Given the description of an element on the screen output the (x, y) to click on. 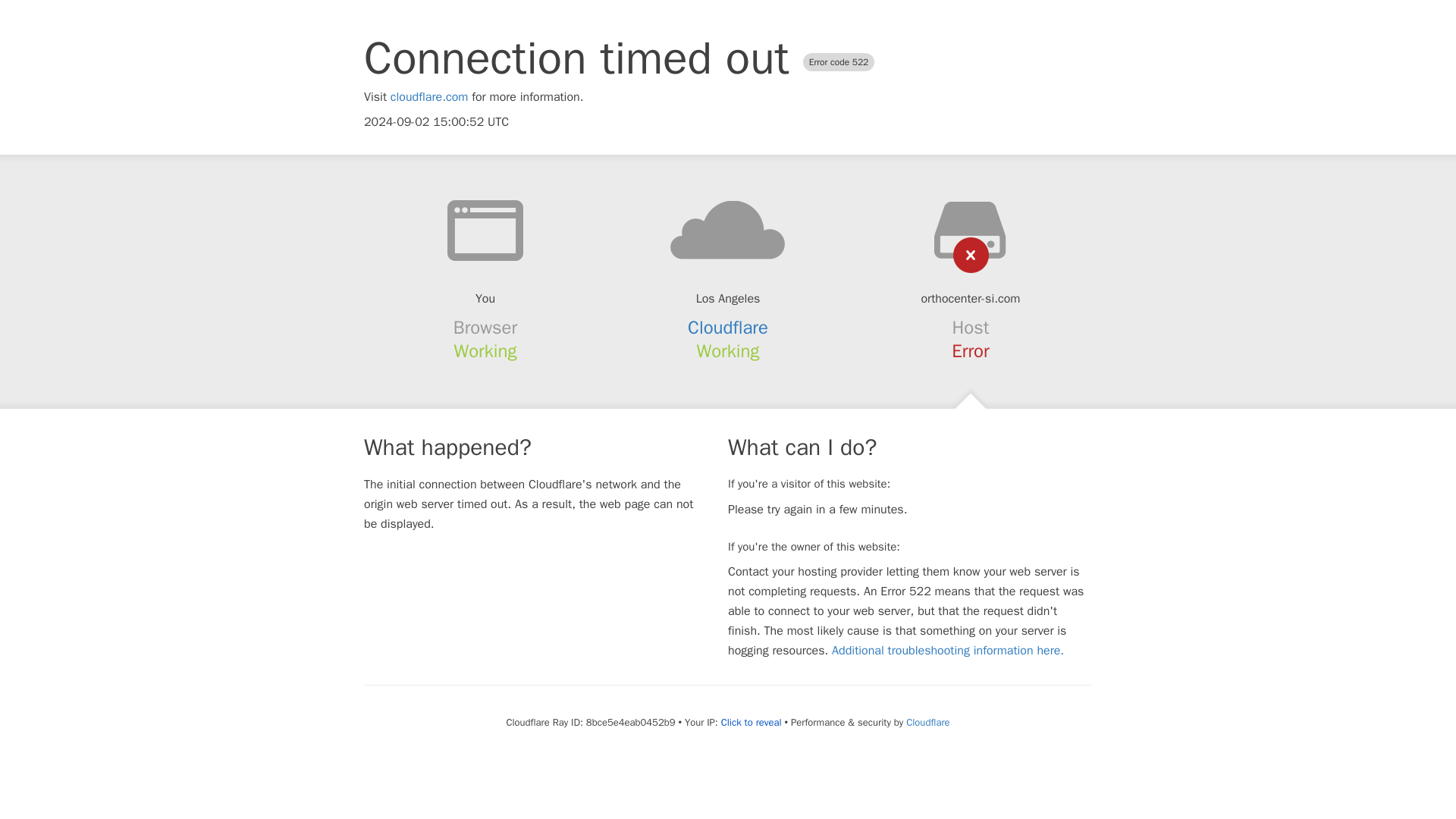
Cloudflare (927, 721)
Additional troubleshooting information here. (947, 650)
Click to reveal (750, 722)
cloudflare.com (429, 96)
Cloudflare (727, 327)
